Given the description of an element on the screen output the (x, y) to click on. 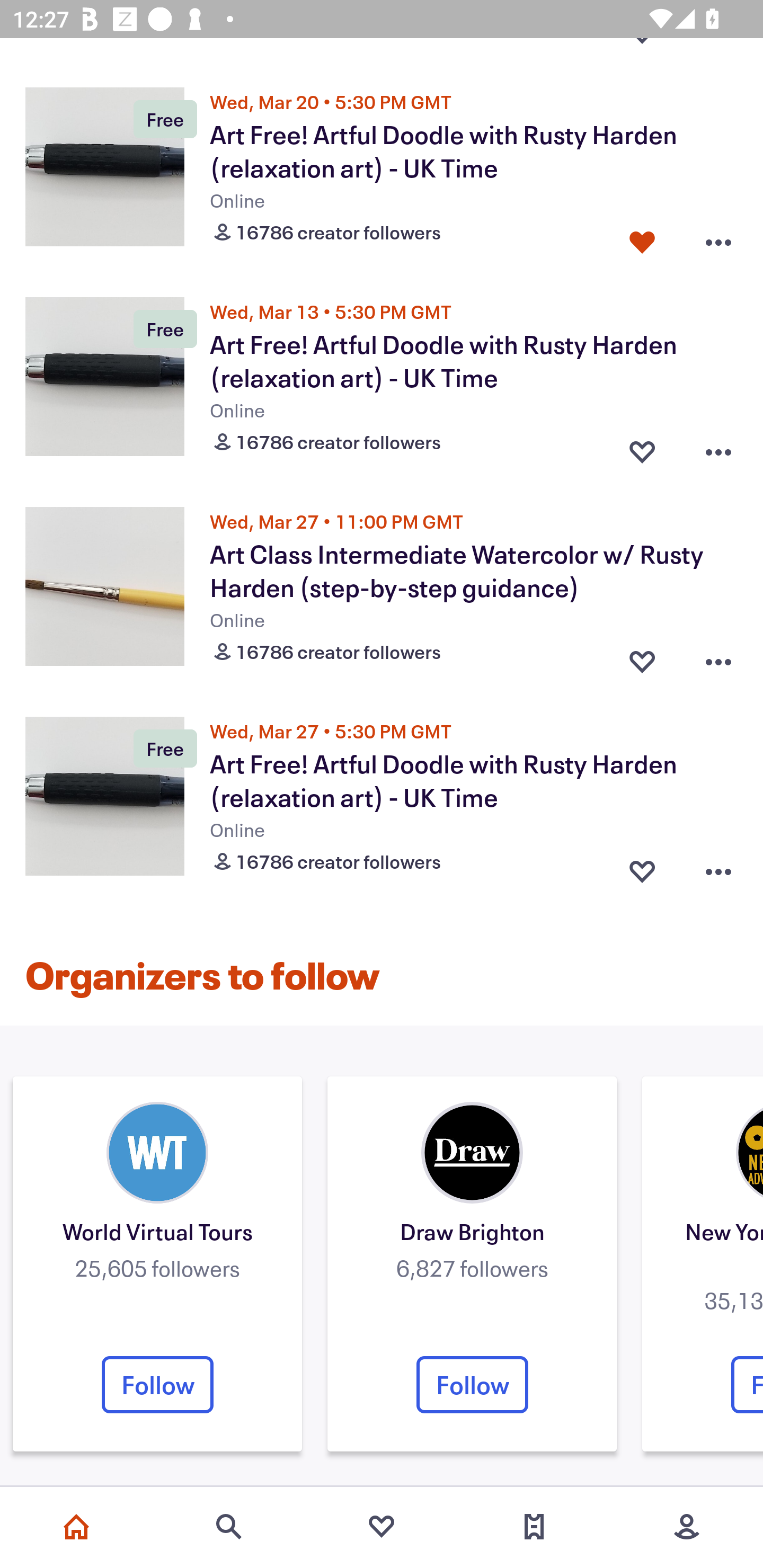
Favorite button (642, 237)
Overflow menu button (718, 237)
Favorite button (642, 447)
Overflow menu button (718, 447)
Favorite button (642, 657)
Overflow menu button (718, 657)
Favorite button (642, 867)
Overflow menu button (718, 867)
Follow Organizer's follow button (157, 1384)
Follow Organizer's follow button (471, 1384)
Home (76, 1526)
Search events (228, 1526)
Favorites (381, 1526)
Tickets (533, 1526)
More (686, 1526)
